Given the description of an element on the screen output the (x, y) to click on. 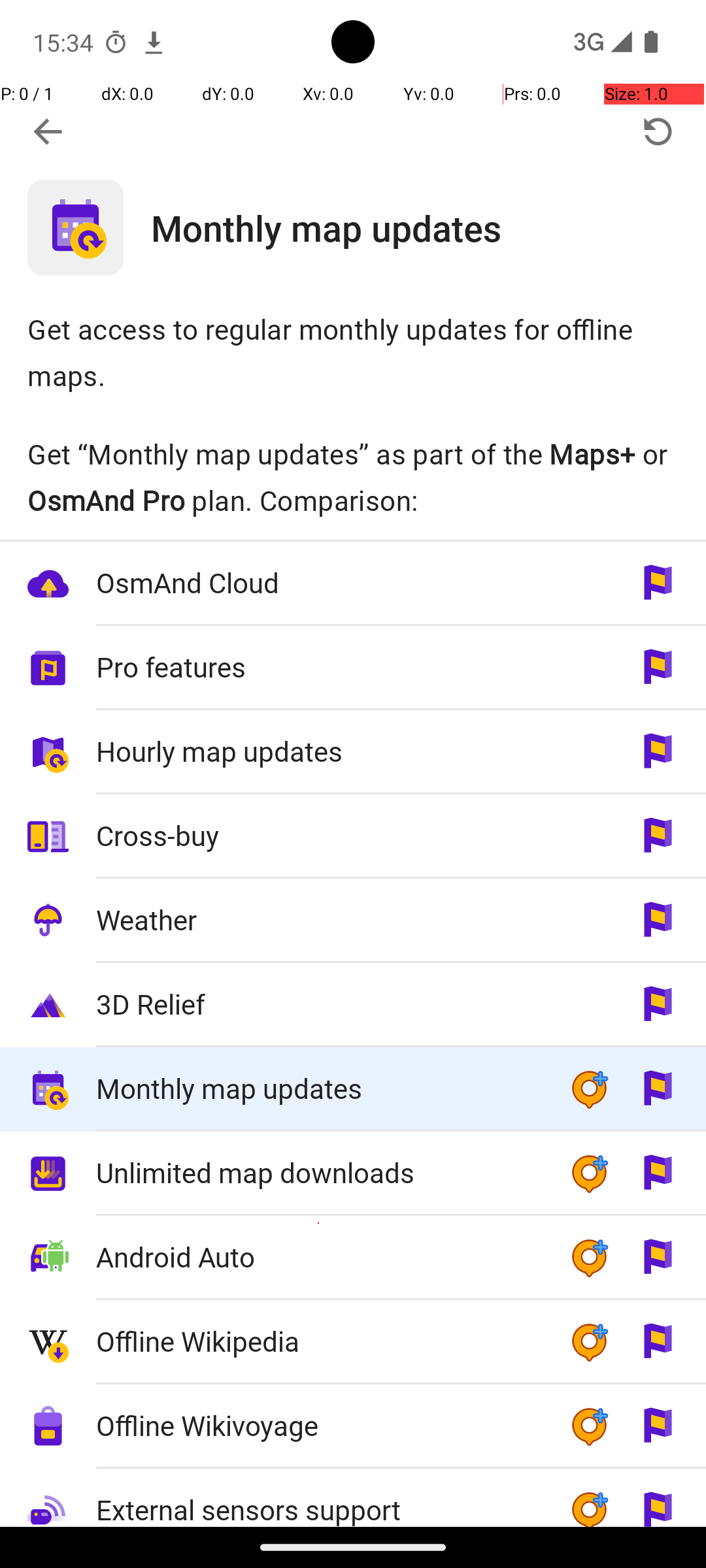
Monthly map updates Element type: android.widget.TextView (428, 227)
Restore purchases Element type: android.widget.ImageButton (657, 131)
Get access to regular monthly updates for offline maps. Element type: android.widget.TextView (353, 351)
Get “Monthly map updates” as part of the Maps+ or OsmAnd Pro plan. Comparison: Element type: android.widget.TextView (353, 476)
OsmAnd Cloud available as part of the OsmAnd Pro plan Element type: android.widget.LinearLayout (353, 583)
Pro features available as part of the OsmAnd Pro plan Element type: android.widget.LinearLayout (353, 667)
Hourly map updates available as part of the OsmAnd Pro plan Element type: android.widget.LinearLayout (353, 752)
Cross-buy available as part of the OsmAnd Pro plan Element type: android.widget.LinearLayout (353, 836)
Weather available as part of the OsmAnd Pro plan Element type: android.widget.LinearLayout (353, 920)
3D Relief available as part of the OsmAnd Pro plan Element type: android.widget.LinearLayout (353, 1005)
Monthly map updates available as part of the OsmAnd+ or OsmAnd Pro plan Element type: android.widget.LinearLayout (353, 1089)
Unlimited map downloads available as part of the OsmAnd+ or OsmAnd Pro plan Element type: android.widget.LinearLayout (353, 1173)
Android Auto available as part of the OsmAnd+ or OsmAnd Pro plan Element type: android.widget.LinearLayout (353, 1257)
Offline Wikipedia available as part of the OsmAnd+ or OsmAnd Pro plan Element type: android.widget.LinearLayout (353, 1342)
Offline Wikivoyage available as part of the OsmAnd+ or OsmAnd Pro plan Element type: android.widget.LinearLayout (353, 1426)
External sensors support available as part of the OsmAnd+ or OsmAnd Pro plan Element type: android.widget.LinearLayout (353, 1497)
OsmAnd Cloud Element type: android.widget.TextView (318, 581)
Pro features Element type: android.widget.TextView (318, 666)
Hourly map updates Element type: android.widget.TextView (318, 750)
Cross-buy Element type: android.widget.TextView (318, 834)
3D Relief Element type: android.widget.TextView (318, 1003)
Unlimited map downloads Element type: android.widget.TextView (318, 1171)
Offline Wikipedia Element type: android.widget.TextView (318, 1340)
Offline Wikivoyage Element type: android.widget.TextView (318, 1424)
External sensors support Element type: android.widget.TextView (318, 1498)
